Given the description of an element on the screen output the (x, y) to click on. 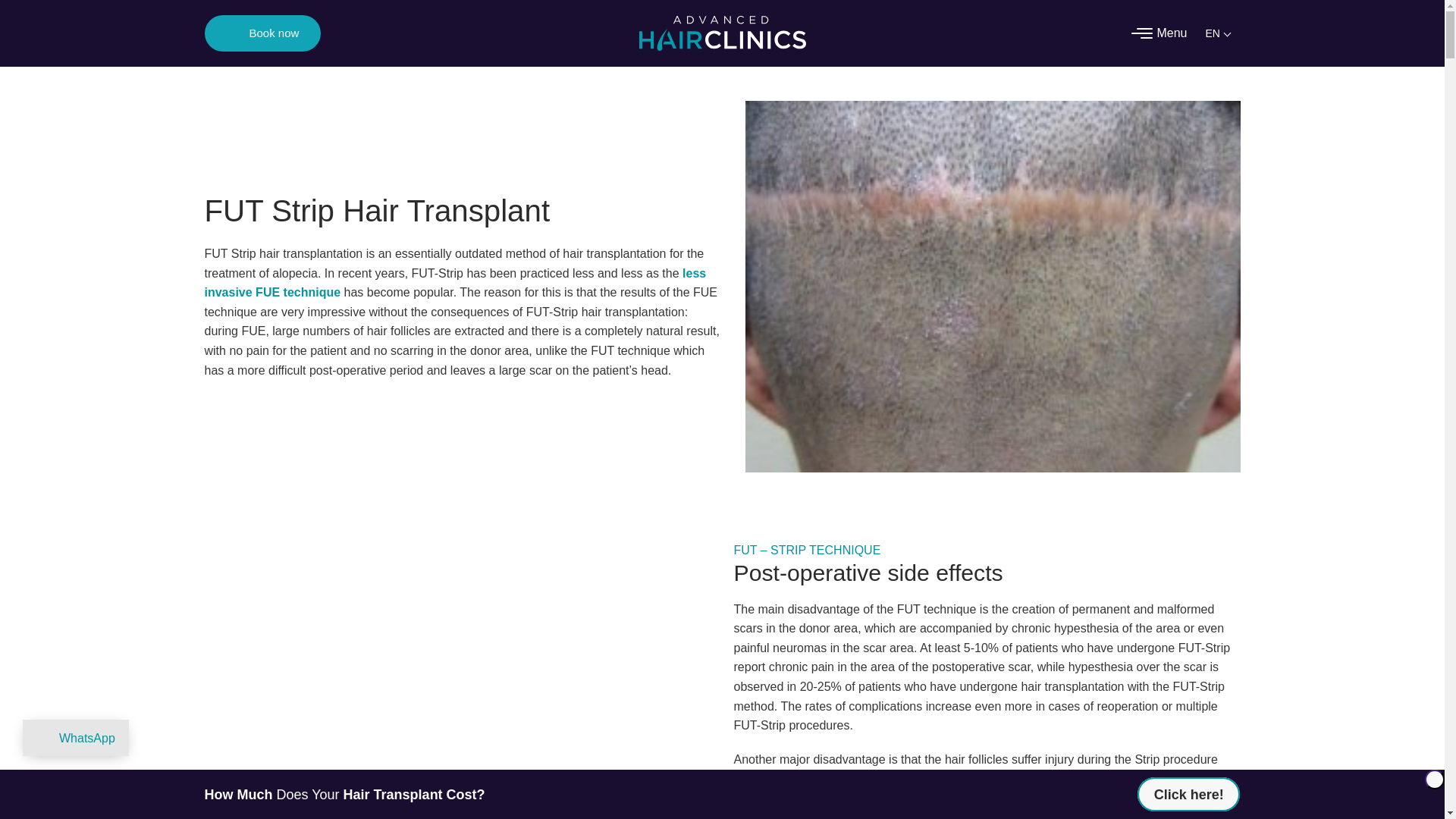
Book now (273, 33)
Home (722, 32)
Menu (1171, 33)
EN (1219, 32)
